Given the description of an element on the screen output the (x, y) to click on. 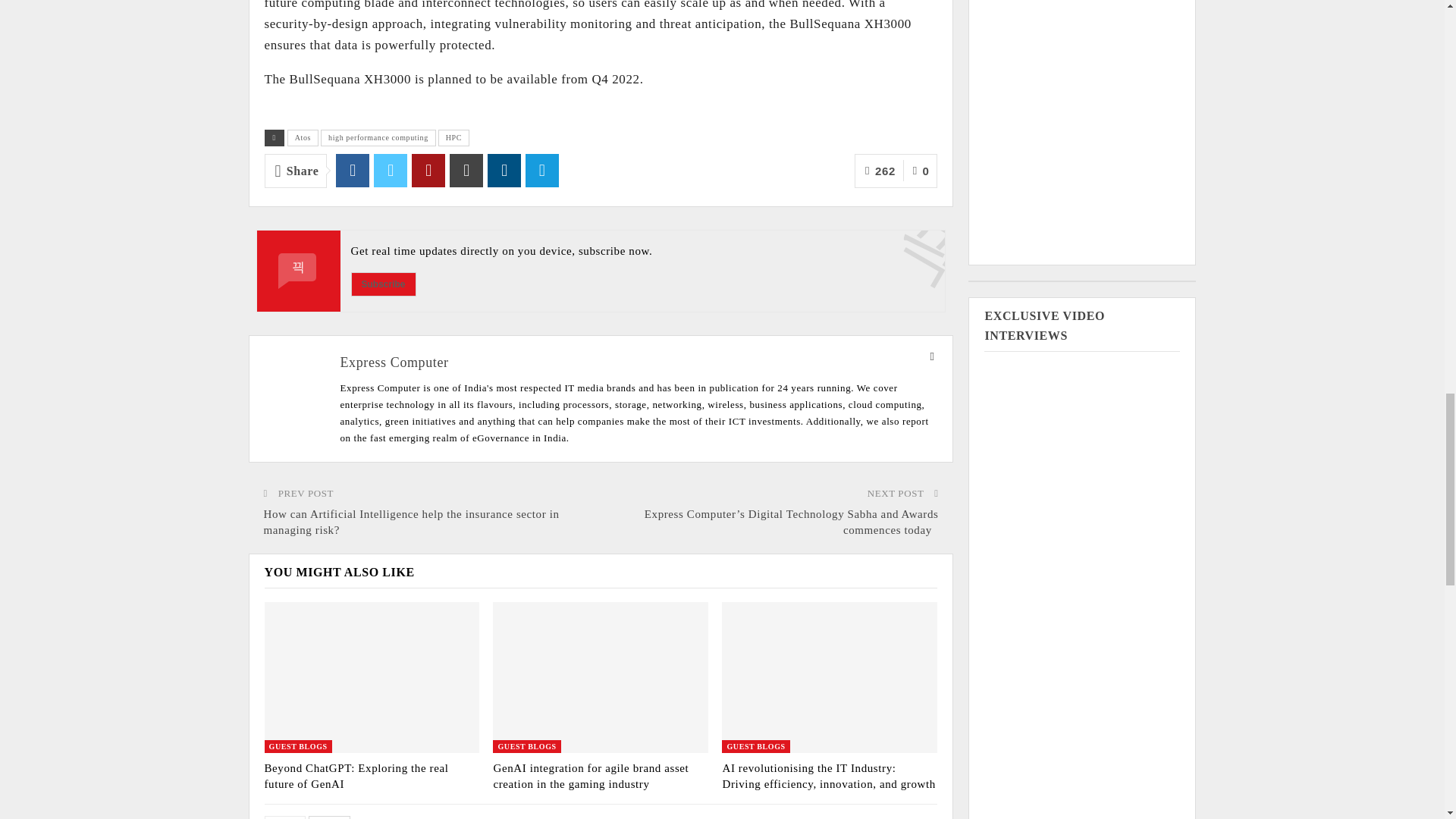
Previous (284, 817)
Beyond ChatGPT: Exploring the real future of GenAI (371, 676)
Beyond ChatGPT: Exploring the real future of GenAI (355, 776)
